Given the description of an element on the screen output the (x, y) to click on. 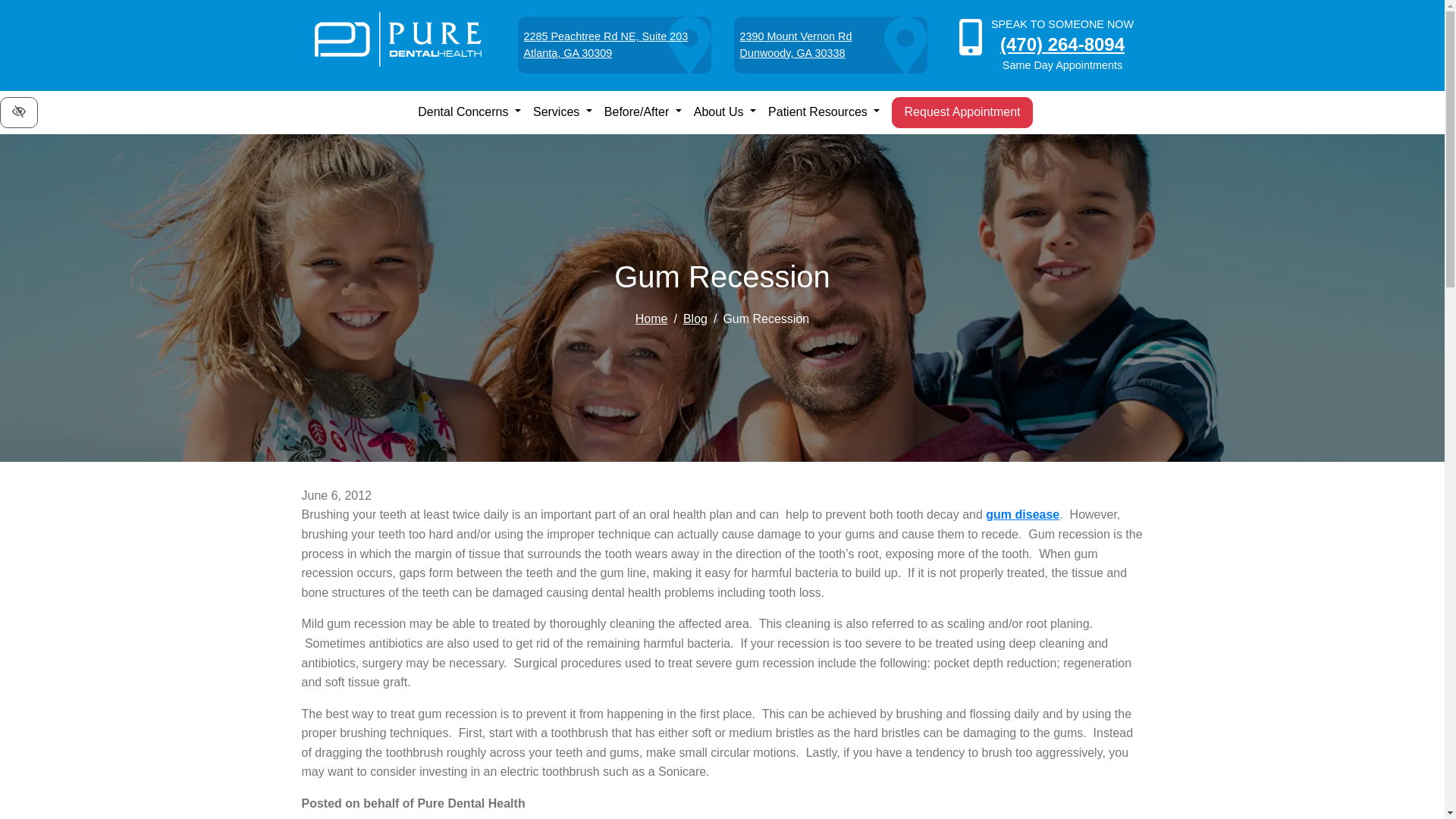
Dental Concerns (613, 44)
Services (830, 44)
gum disease (469, 112)
Skip to main content (562, 112)
